Given the description of an element on the screen output the (x, y) to click on. 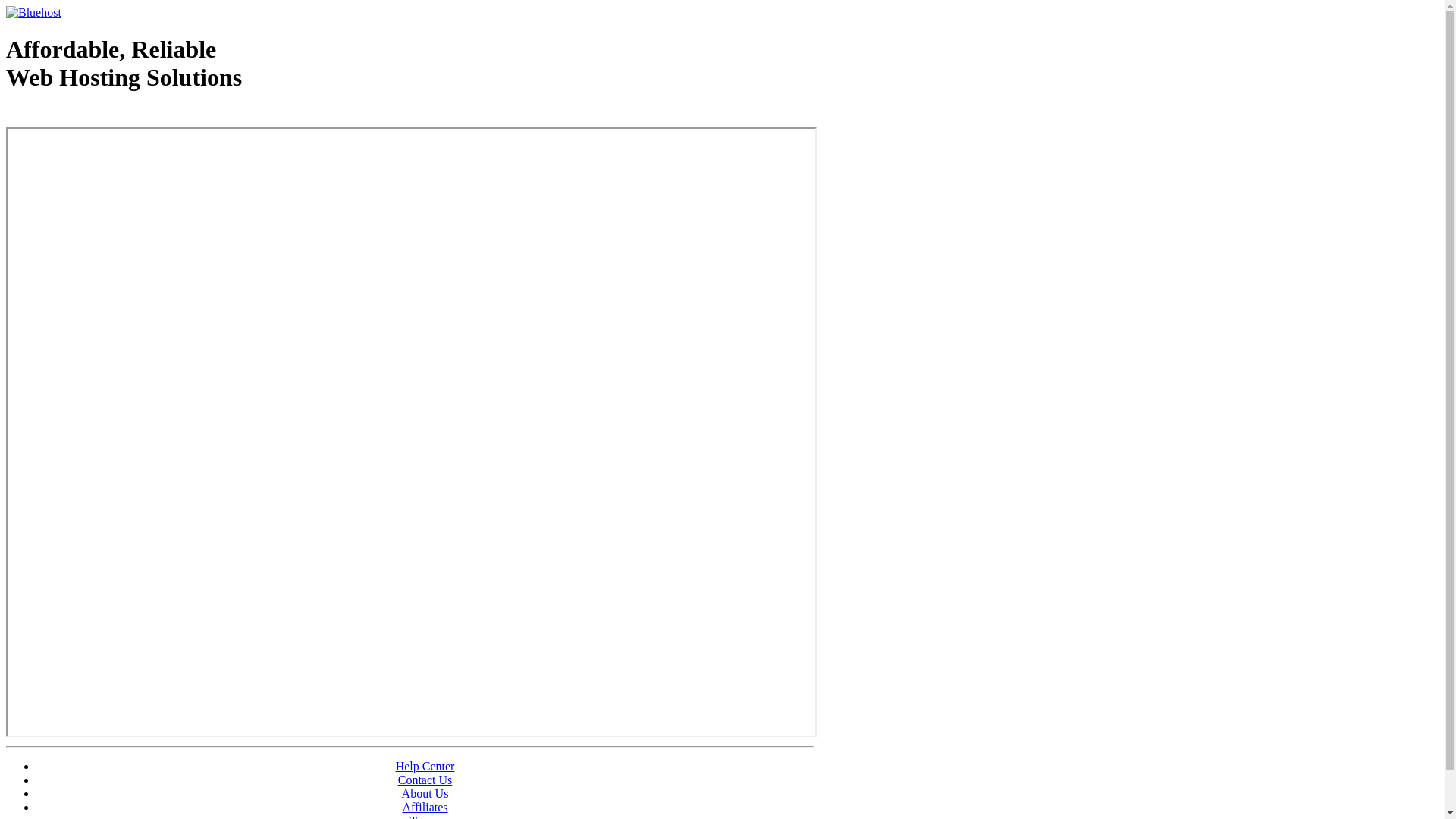
About Us Element type: text (424, 793)
Help Center Element type: text (425, 765)
Affiliates Element type: text (424, 806)
Contact Us Element type: text (425, 779)
Web Hosting - courtesy of www.bluehost.com Element type: text (94, 115)
